Given the description of an element on the screen output the (x, y) to click on. 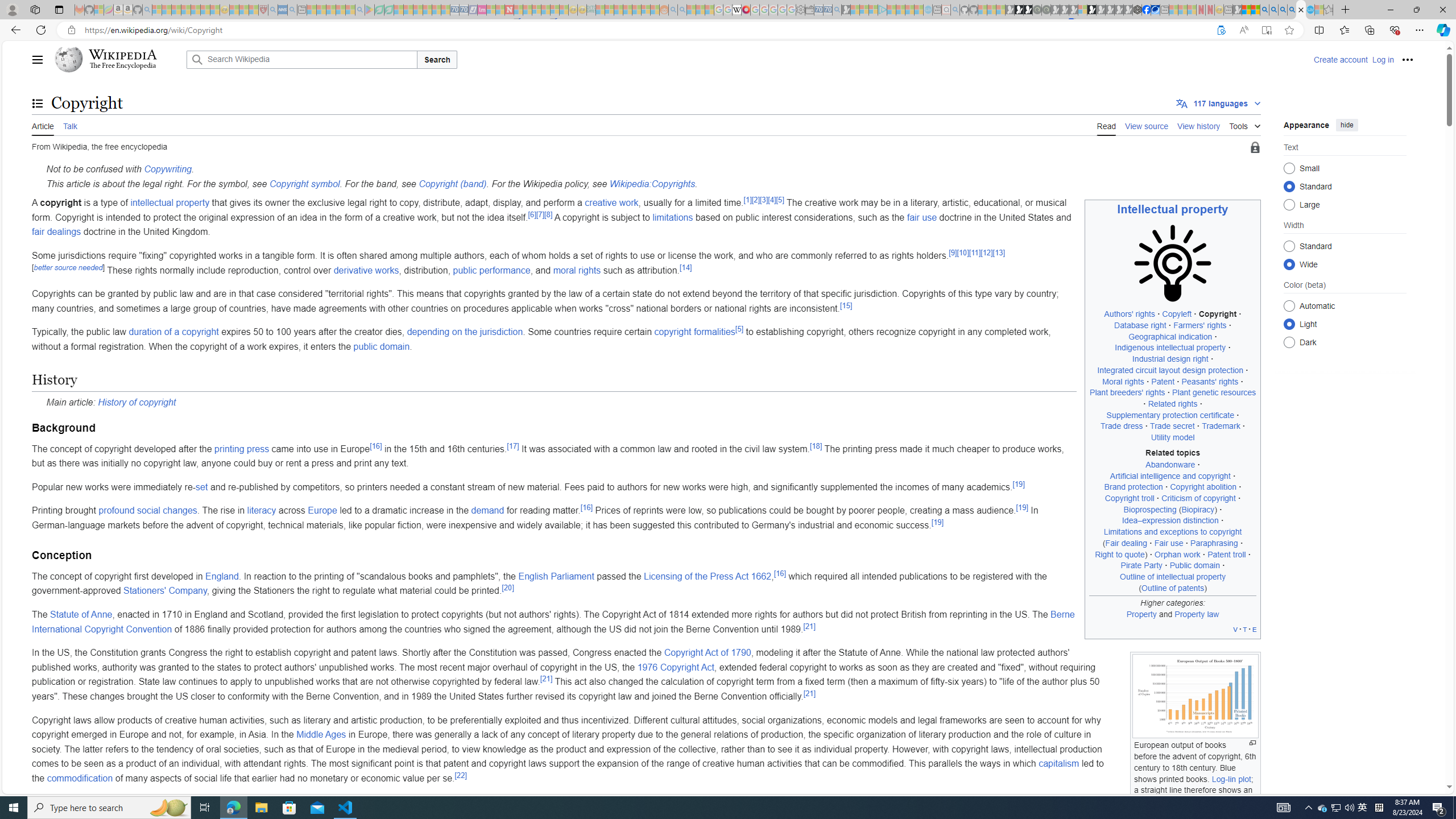
[11] (974, 252)
e (1254, 628)
Property (1141, 614)
Local - MSN - Sleeping (253, 9)
Paraphrasing (1214, 542)
[8] (548, 213)
Read aloud this page (Ctrl+Shift+U) (1243, 29)
Class: mw-file-element (1194, 696)
Favorites - Sleeping (1328, 9)
